Given the description of an element on the screen output the (x, y) to click on. 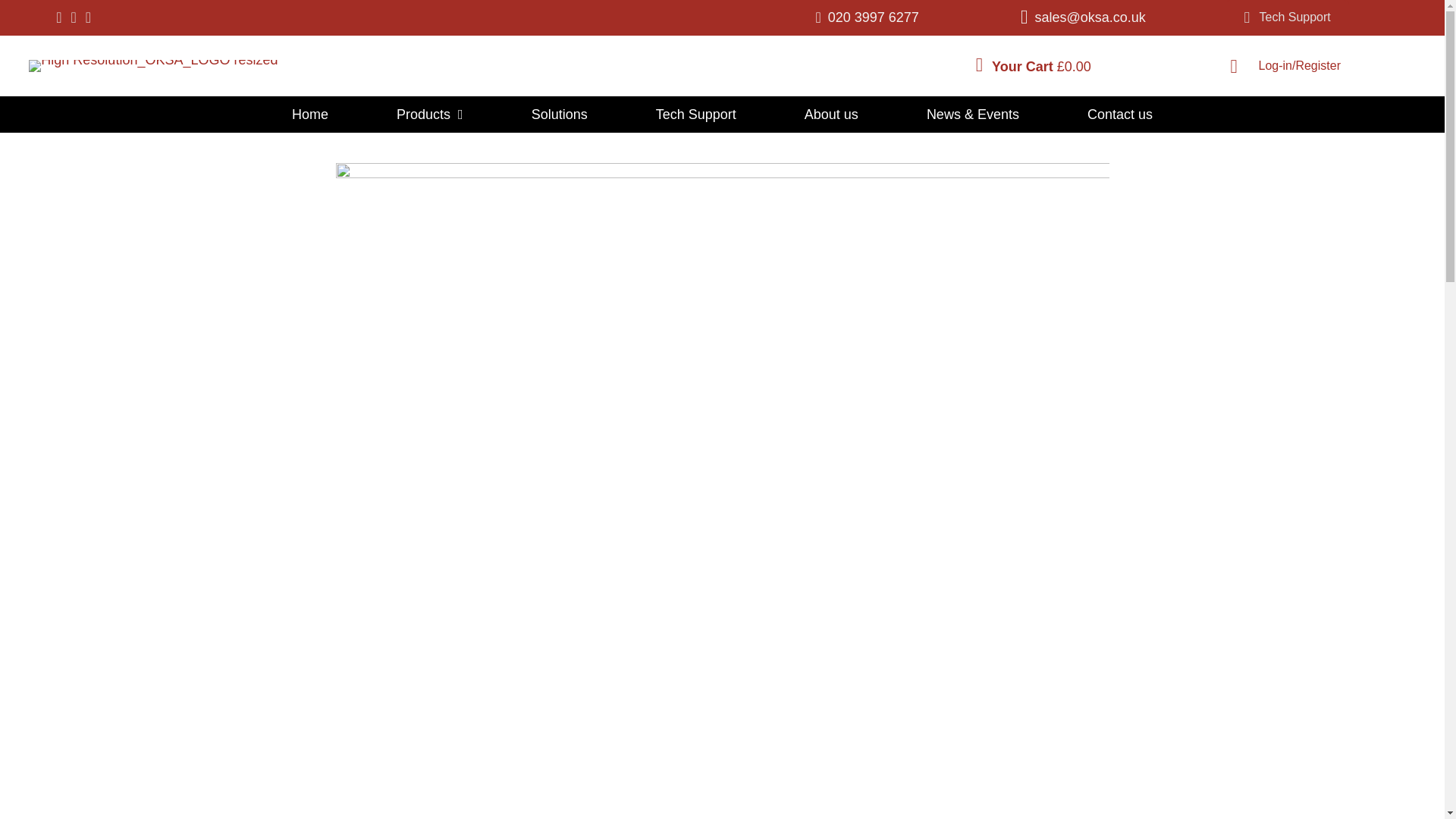
Products (429, 113)
wpforms-submit (620, 356)
Tech Support (1286, 18)
020 3997 6277 (873, 17)
Home (309, 113)
Click Here (1286, 18)
